Given the description of an element on the screen output the (x, y) to click on. 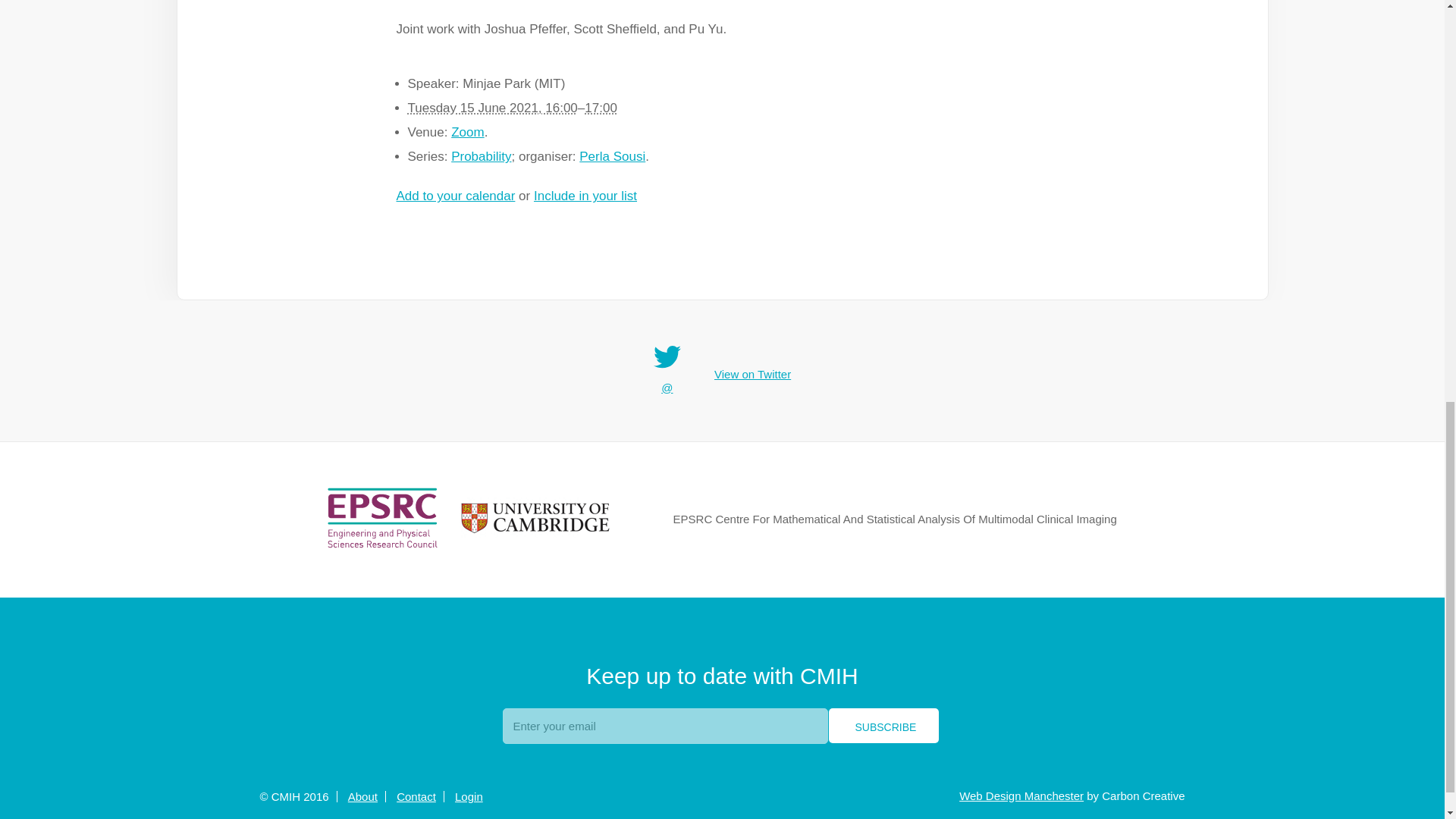
Contact (415, 796)
About (362, 796)
Subscribe (882, 725)
Perla Sousi (612, 156)
20210615T160000 (492, 107)
Include in your list (585, 196)
20210615T170000 (601, 107)
Zoom (467, 132)
Subscribe (882, 725)
View on Twitter (752, 374)
Add to your calendar (455, 196)
Probability (481, 156)
